Given the description of an element on the screen output the (x, y) to click on. 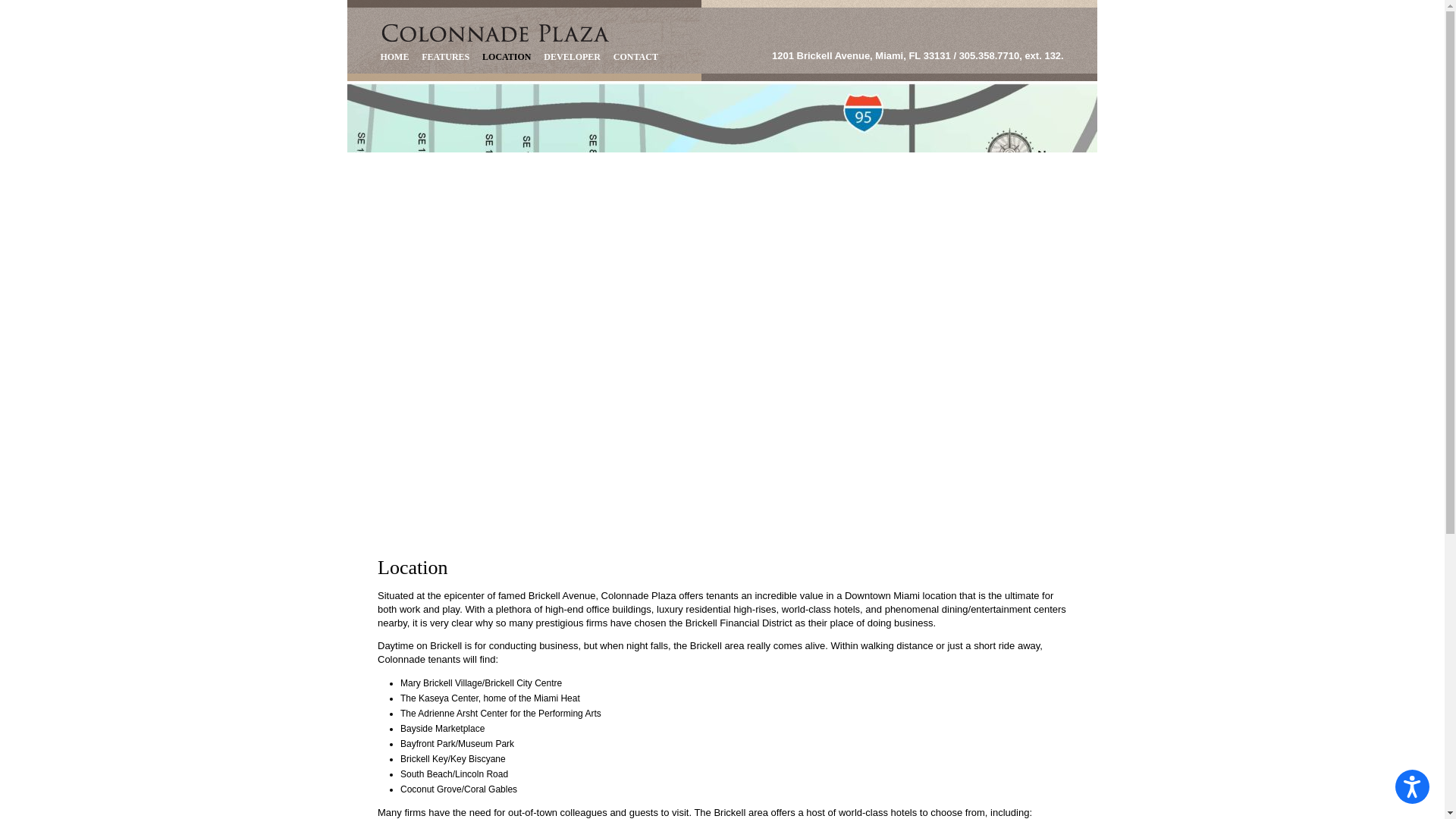
DEVELOPER Element type: text (571, 57)
FEATURES Element type: text (445, 57)
HOME Element type: text (394, 57)
1201 Brickell Element type: text (496, 33)
CONTACT Element type: text (635, 57)
LOCATION Element type: text (506, 57)
